Given the description of an element on the screen output the (x, y) to click on. 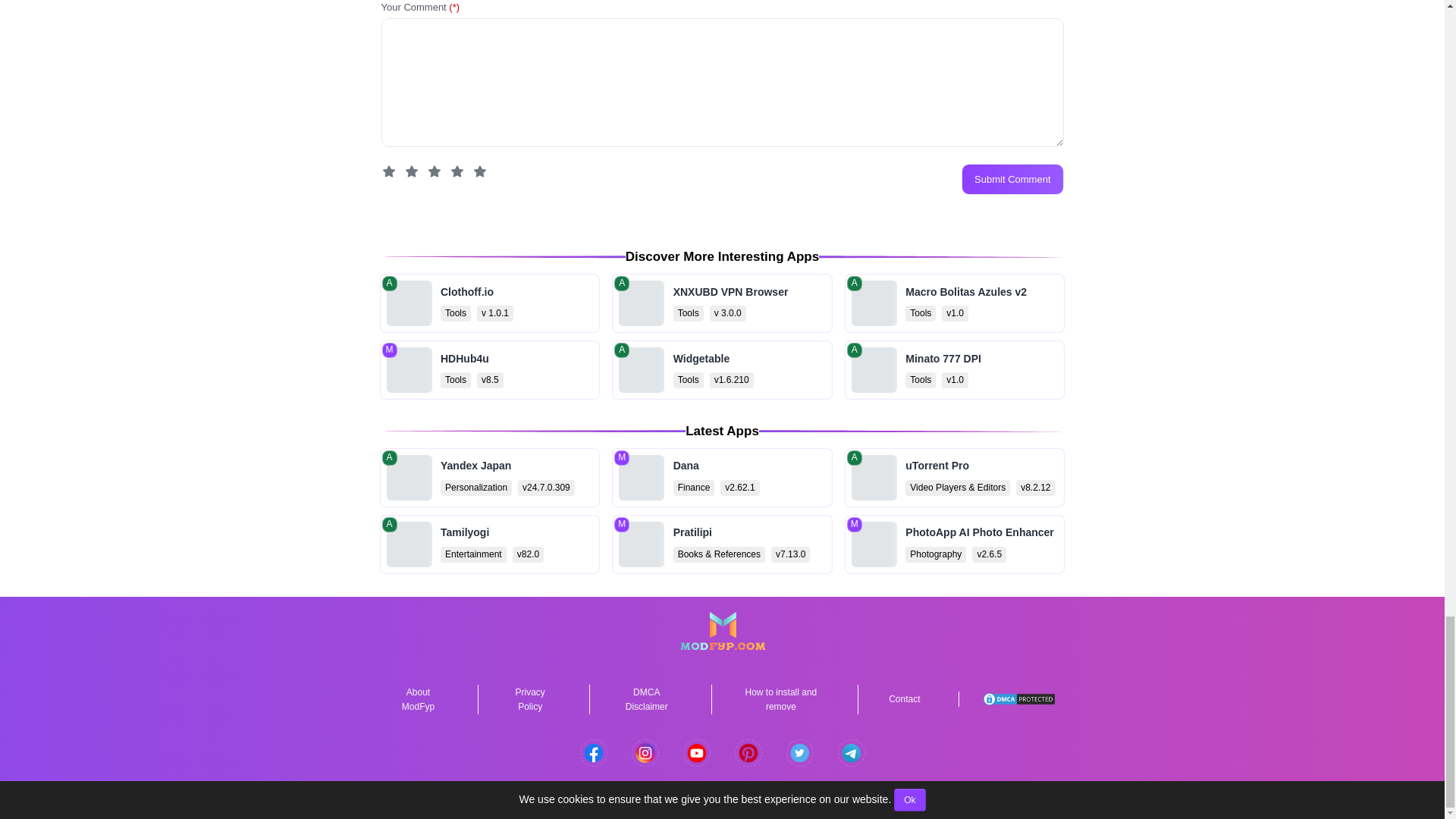
Clothoff.io (488, 302)
XNXUBD VPN Browser (721, 302)
Yandex Japan (488, 476)
uTorrent Pro (954, 476)
Pratilipi (721, 544)
Macro Bolitas Azules v2 (954, 302)
Tamilyogi (488, 544)
Minato 777 DPI (954, 369)
HDHub4u (488, 369)
Widgetable (721, 369)
Dana (721, 476)
